Given the description of an element on the screen output the (x, y) to click on. 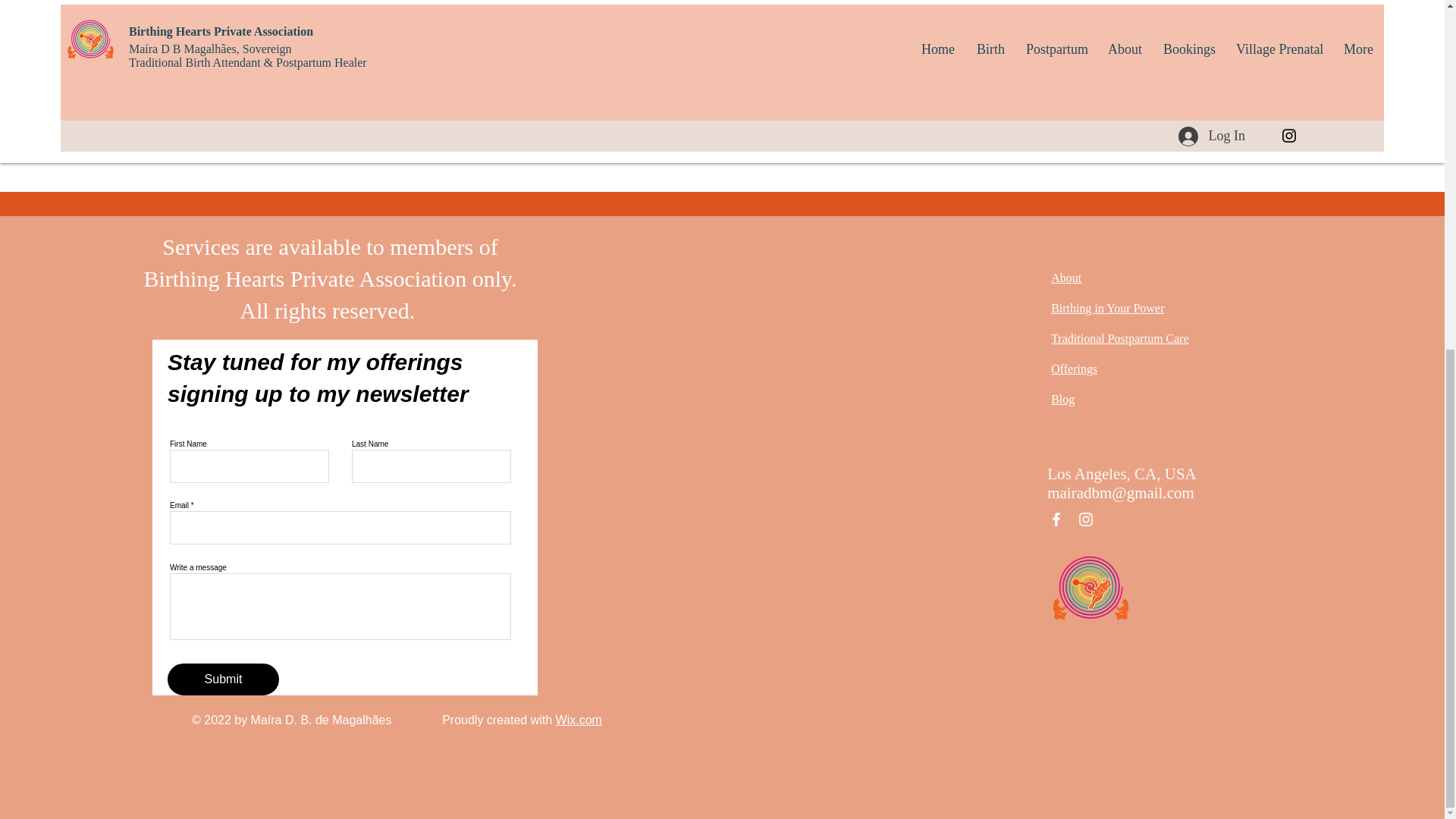
Birthing Hearts-01.jpg (1091, 587)
Traditional Postpartum Care (1120, 338)
About (1066, 277)
Birthing in Your Power (1107, 308)
Blog (1062, 399)
Submit (223, 679)
Wix.com (579, 719)
Offerings (1074, 368)
